Given the description of an element on the screen output the (x, y) to click on. 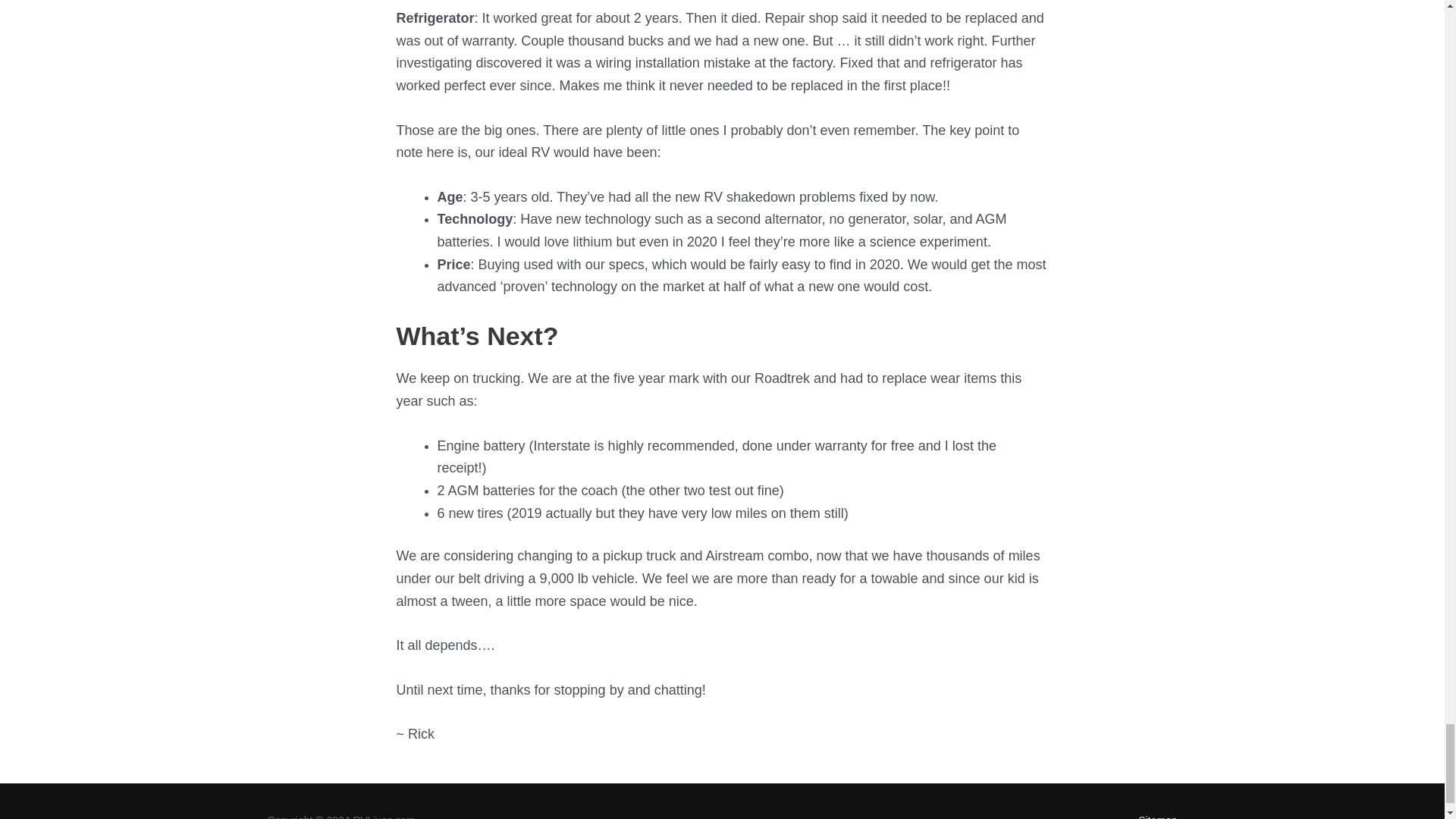
Sitemap (1151, 816)
